Given the description of an element on the screen output the (x, y) to click on. 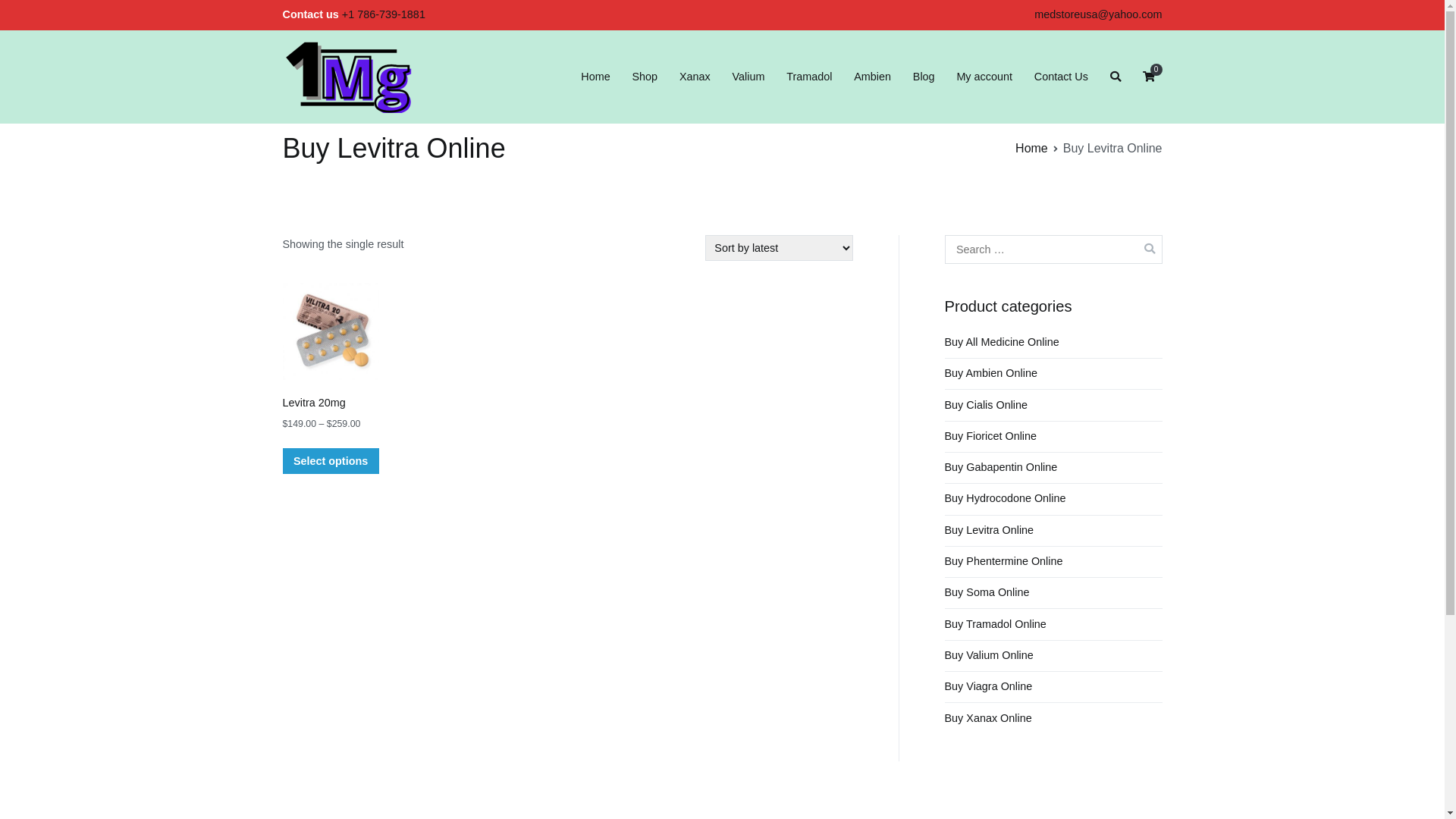
Buy Valium Online Element type: text (988, 655)
Buy Xanax Online Element type: text (988, 717)
Contact Us Element type: text (1061, 77)
My account Element type: text (984, 77)
Valium Element type: text (747, 77)
Search Element type: text (28, 13)
Xanax Element type: text (694, 77)
+1 786-739-1881 Element type: text (381, 14)
Buy Gabapentin Online Element type: text (1000, 467)
Buy Soma Online Element type: text (986, 592)
Buy Tramadol Online Element type: text (995, 623)
Buy Phentermine Online Element type: text (1003, 561)
Buy Viagra Online Element type: text (988, 686)
Home Element type: text (594, 77)
Buy Ambien Online Element type: text (990, 373)
0 Element type: text (1148, 77)
Ambien Element type: text (872, 77)
Buy Hydrocodone Online Element type: text (1005, 498)
Shop Element type: text (644, 77)
Buy Fioricet Online Element type: text (990, 436)
Buy Cialis Online Element type: text (986, 404)
Blog Element type: text (924, 77)
medstoreusa@yahoo.com Element type: text (1097, 14)
Select options Element type: text (330, 461)
Home Element type: text (1031, 147)
Buy Levitra Online Element type: text (989, 530)
Tramadol Element type: text (808, 77)
1mgXanax.Com Element type: text (484, 87)
Buy All Medicine Online Element type: text (1001, 342)
